Given the description of an element on the screen output the (x, y) to click on. 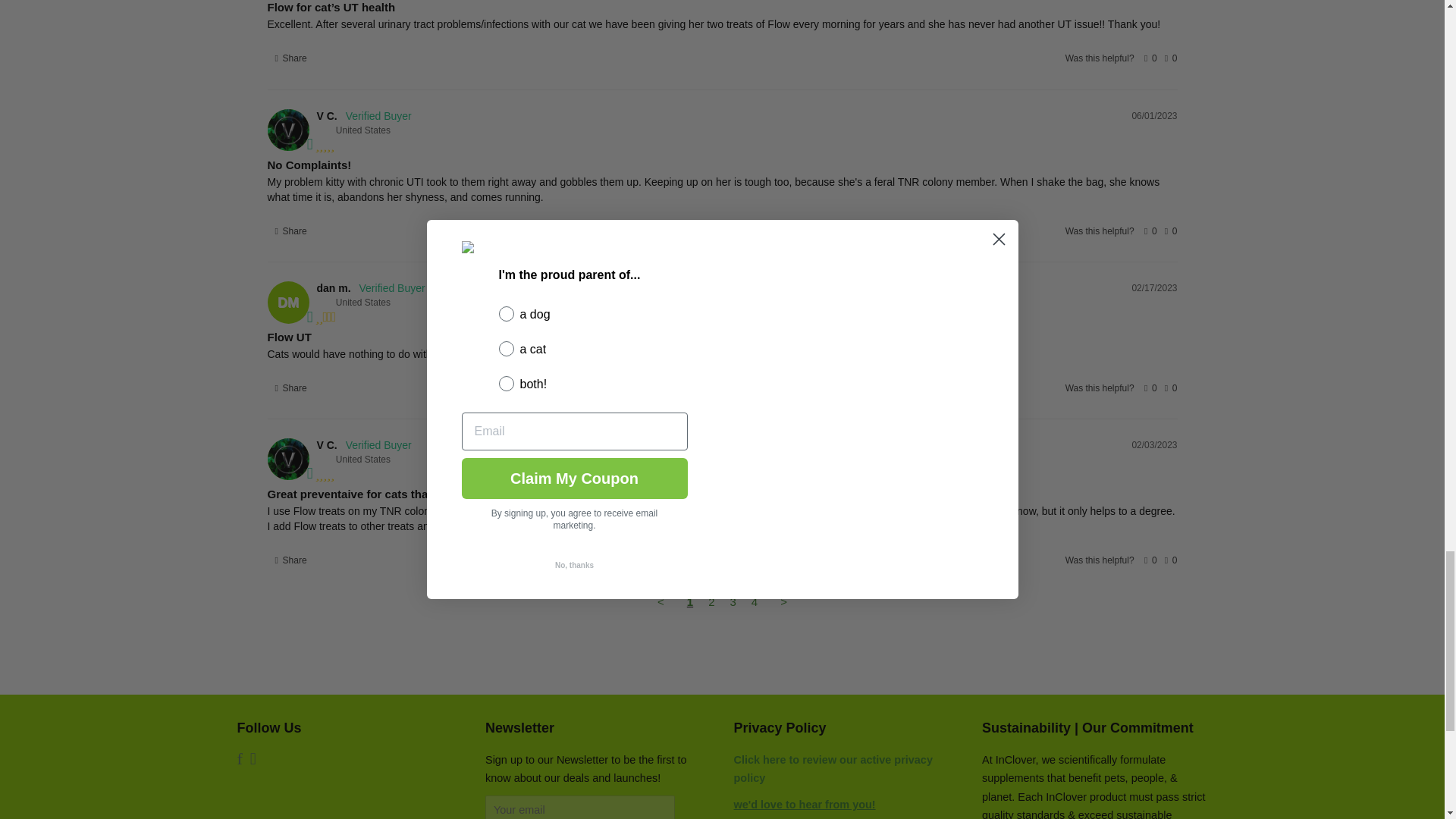
InClover Research on Instagram (253, 760)
InClover Research on Facebook (238, 760)
